Given the description of an element on the screen output the (x, y) to click on. 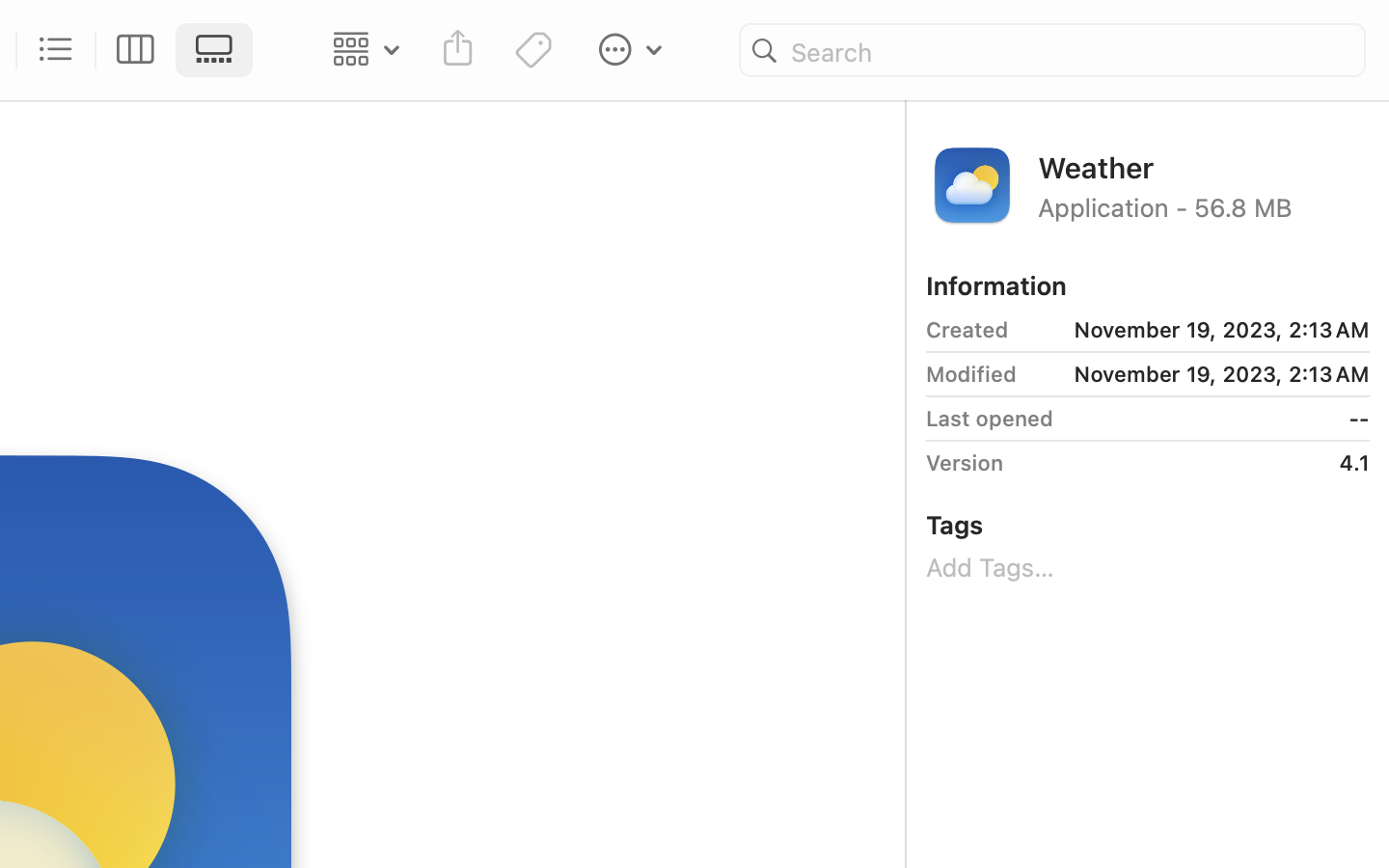
0 Element type: AXRadioButton (135, 49)
4.1 Element type: AXStaticText (1192, 462)
Created Element type: AXStaticText (967, 329)
Modified Element type: AXStaticText (971, 373)
-- Element type: AXStaticText (1217, 418)
